Given the description of an element on the screen output the (x, y) to click on. 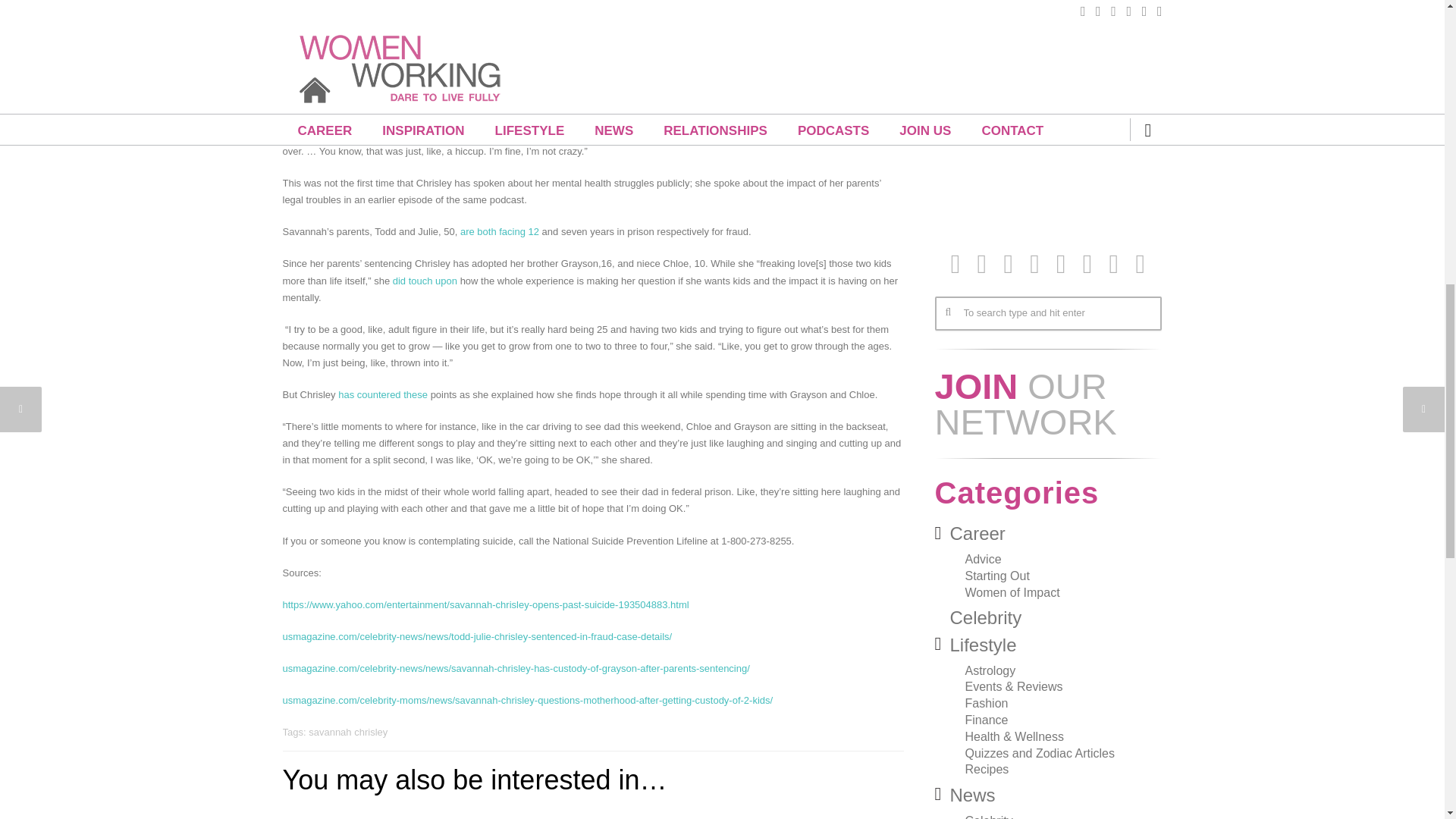
Advertisement (1047, 117)
To search type and hit enter (1047, 313)
